Given the description of an element on the screen output the (x, y) to click on. 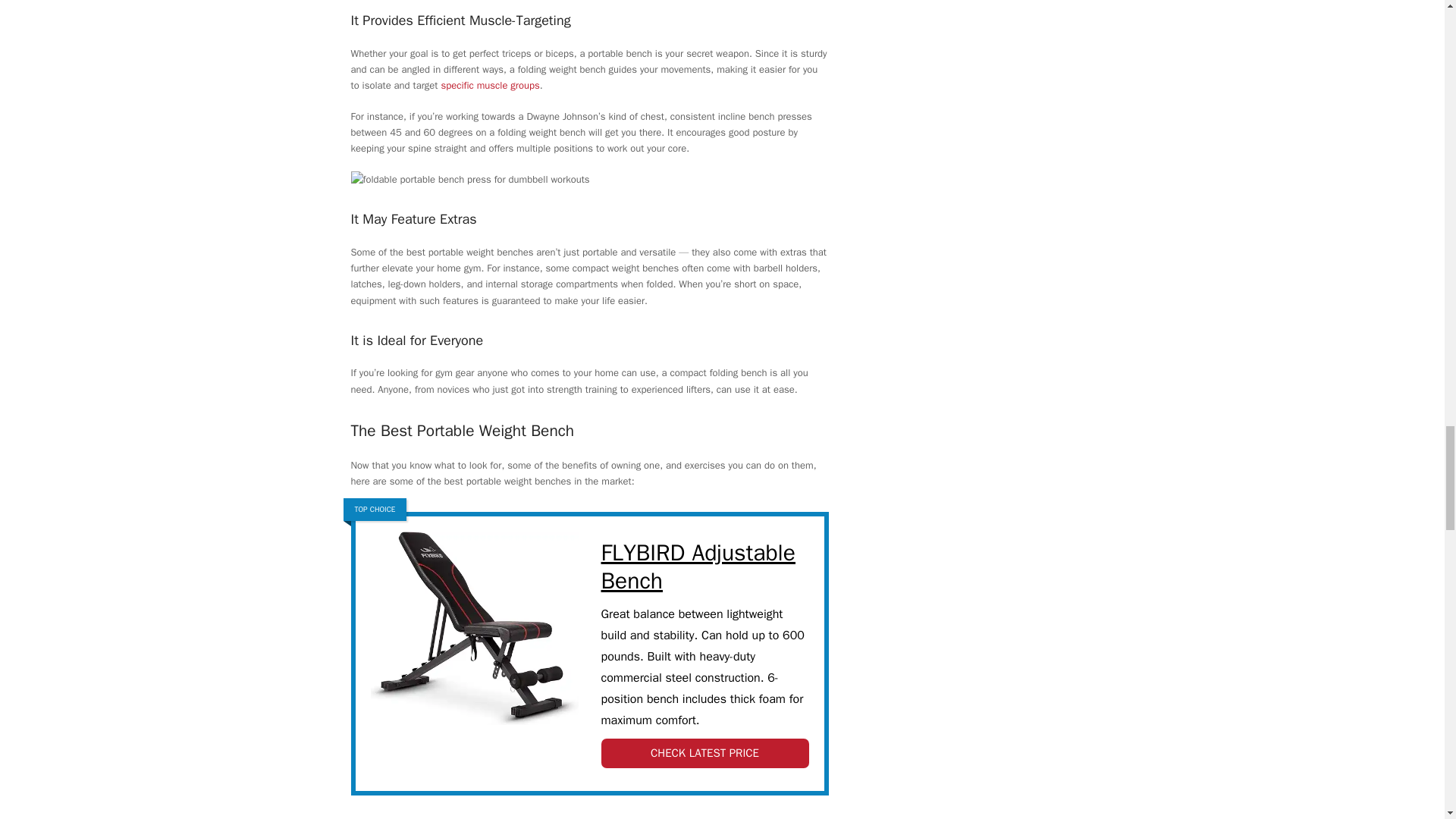
specific muscle groups (489, 84)
FLYBIRD Adjustable Bench (703, 567)
FLYBIRD Adjustable Bench (703, 567)
FLYBIRD Adjustable Bench (703, 753)
FLYBIRD Adjustable Bench (473, 634)
CHECK LATEST PRICE (703, 753)
